Given the description of an element on the screen output the (x, y) to click on. 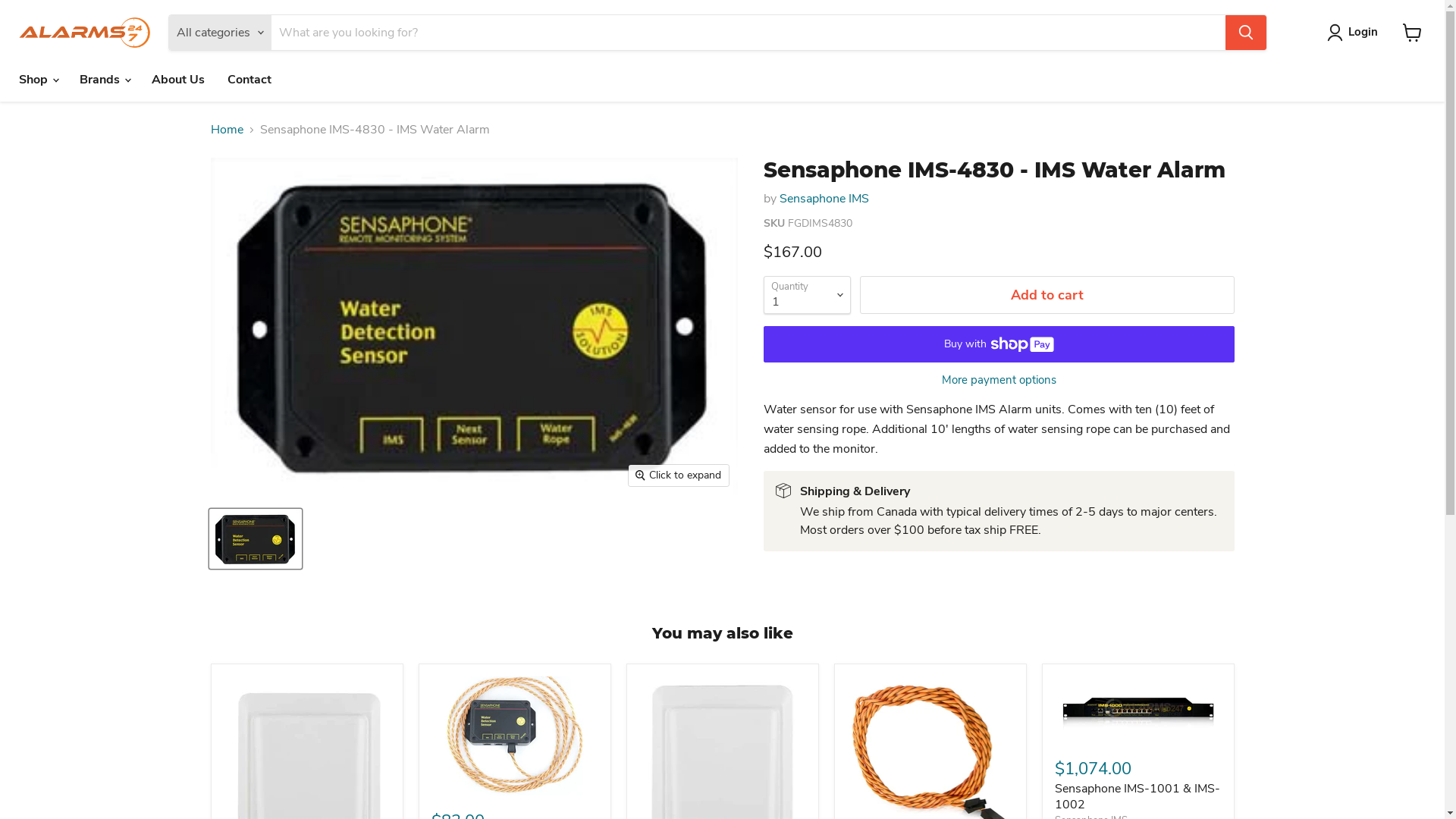
Contact Element type: text (249, 79)
View cart Element type: text (1412, 32)
Login Element type: text (1362, 32)
Click to expand Element type: text (678, 475)
More payment options Element type: text (997, 379)
Home Element type: text (226, 129)
Add to cart Element type: text (1046, 295)
Sensaphone IMS-1001 & IMS-1002 Element type: text (1136, 796)
About Us Element type: text (178, 79)
Sensaphone IMS Element type: text (824, 198)
